Given the description of an element on the screen output the (x, y) to click on. 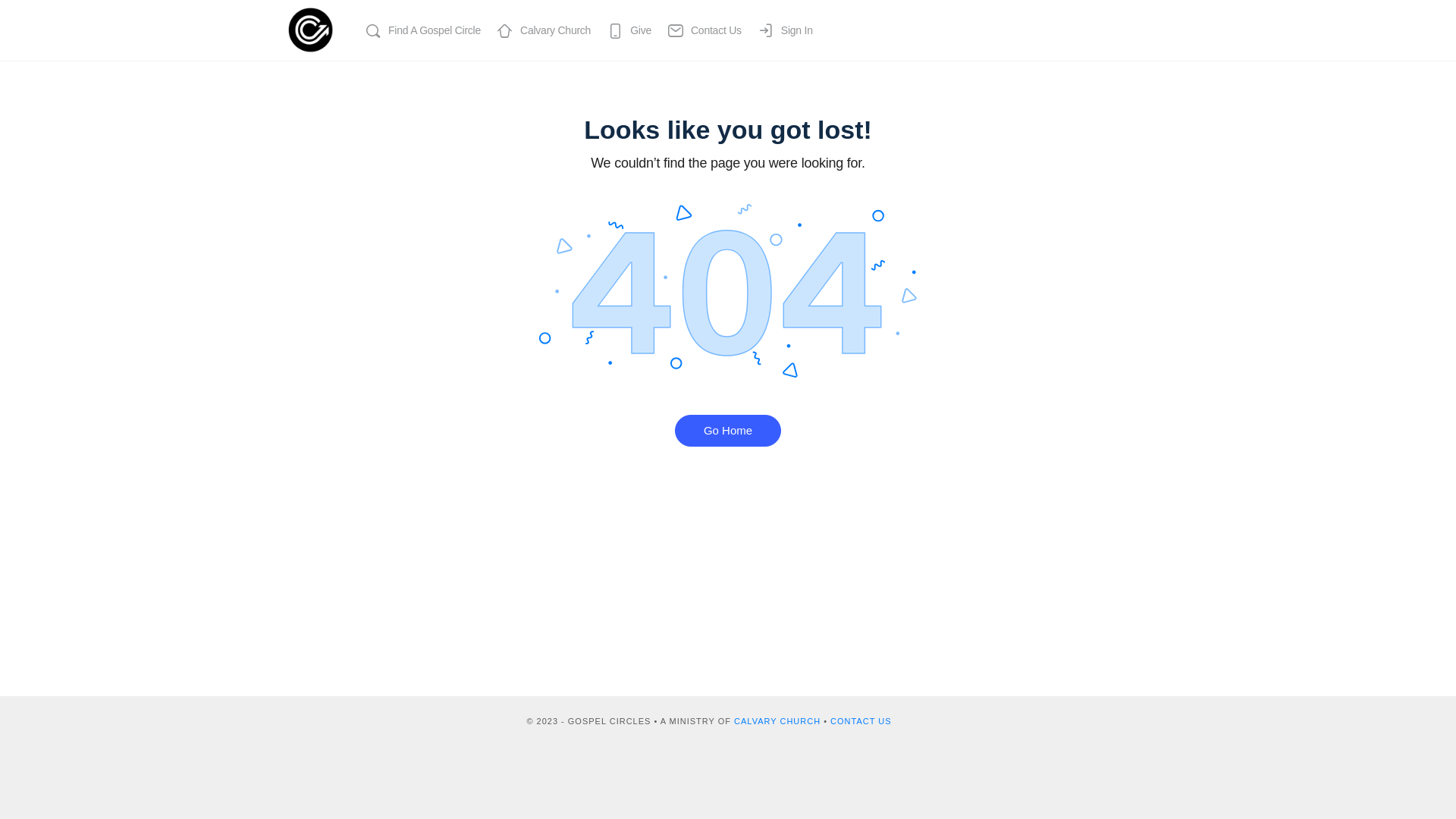
Contact Us Element type: text (703, 30)
Give Element type: text (628, 30)
Go Home Element type: text (727, 430)
CONTACT US Element type: text (860, 720)
CALVARY CHURCH Element type: text (777, 720)
Calvary Church Element type: text (542, 30)
Find A Gospel Circle Element type: text (422, 30)
Sign In Element type: text (784, 30)
